Given the description of an element on the screen output the (x, y) to click on. 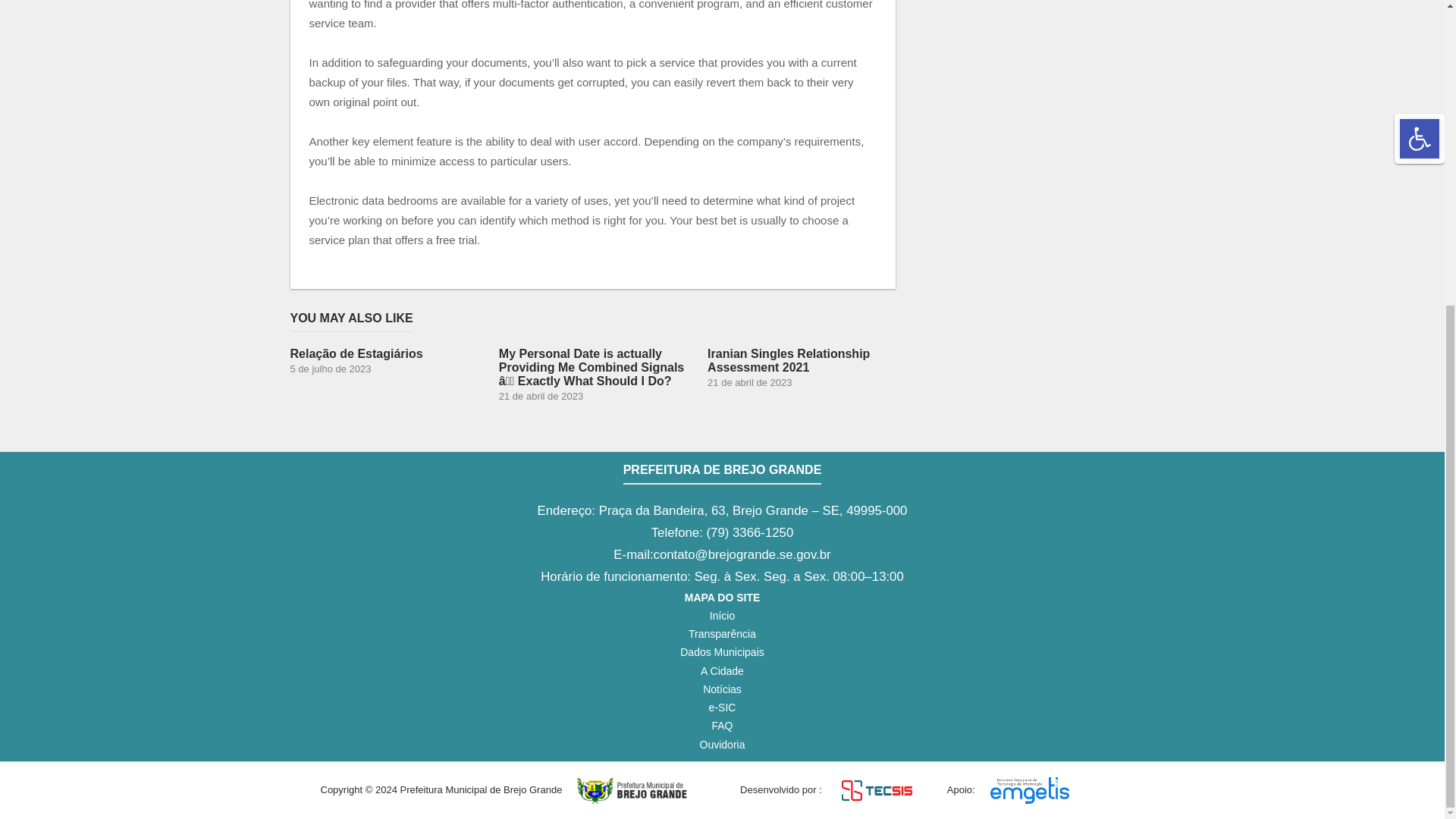
Iranian Singles Relationship Assessment 2021 (801, 367)
